Given the description of an element on the screen output the (x, y) to click on. 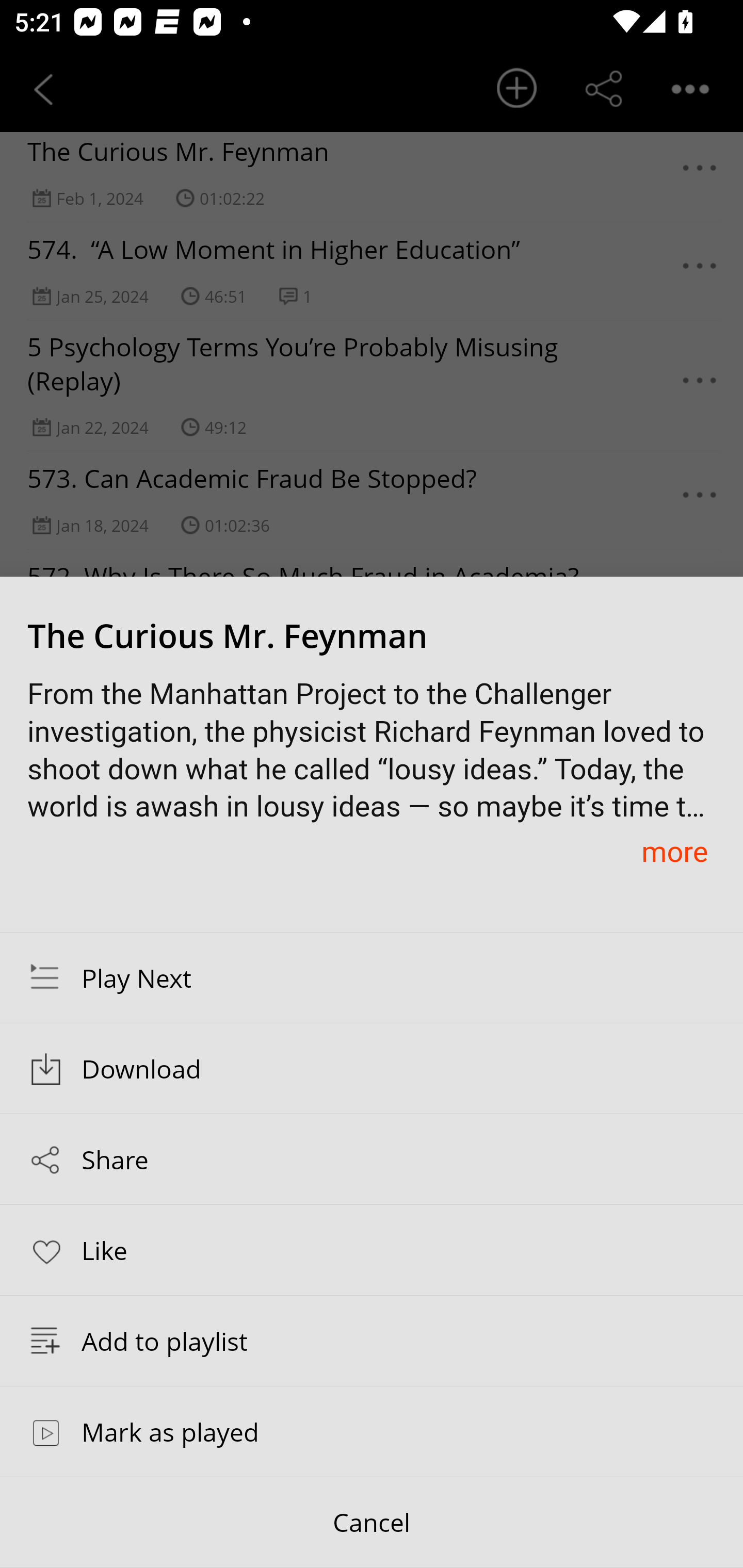
more (674, 851)
Play Next (371, 977)
Download (371, 1068)
Share (371, 1159)
Like (371, 1249)
Add to playlist (371, 1340)
Mark as played (371, 1431)
Cancel (371, 1522)
